Given the description of an element on the screen output the (x, y) to click on. 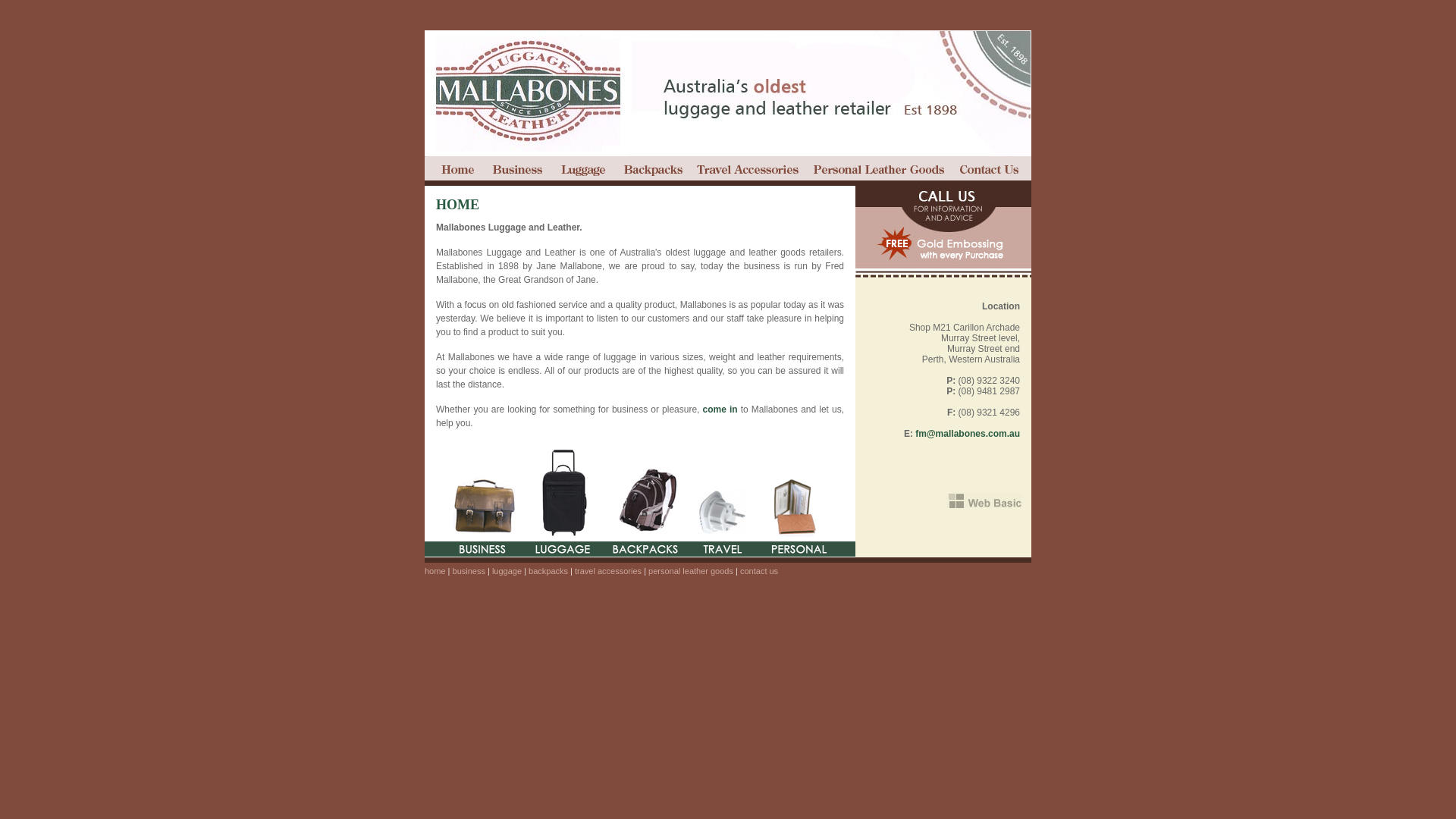
home Element type: text (434, 570)
fm@mallabones.com.au Element type: text (967, 433)
contact us Element type: text (759, 570)
business Element type: text (519, 170)
backpacks Element type: text (547, 570)
home Element type: text (454, 170)
travel accessories Element type: text (748, 170)
luggage Element type: text (584, 170)
contact us Element type: text (990, 170)
backpacks Element type: text (652, 170)
luggage Element type: text (506, 570)
come in Element type: text (721, 409)
personal leather goods Element type: text (878, 170)
personal leather goods Element type: text (690, 570)
travel accessories Element type: text (607, 570)
business Element type: text (468, 570)
